Given the description of an element on the screen output the (x, y) to click on. 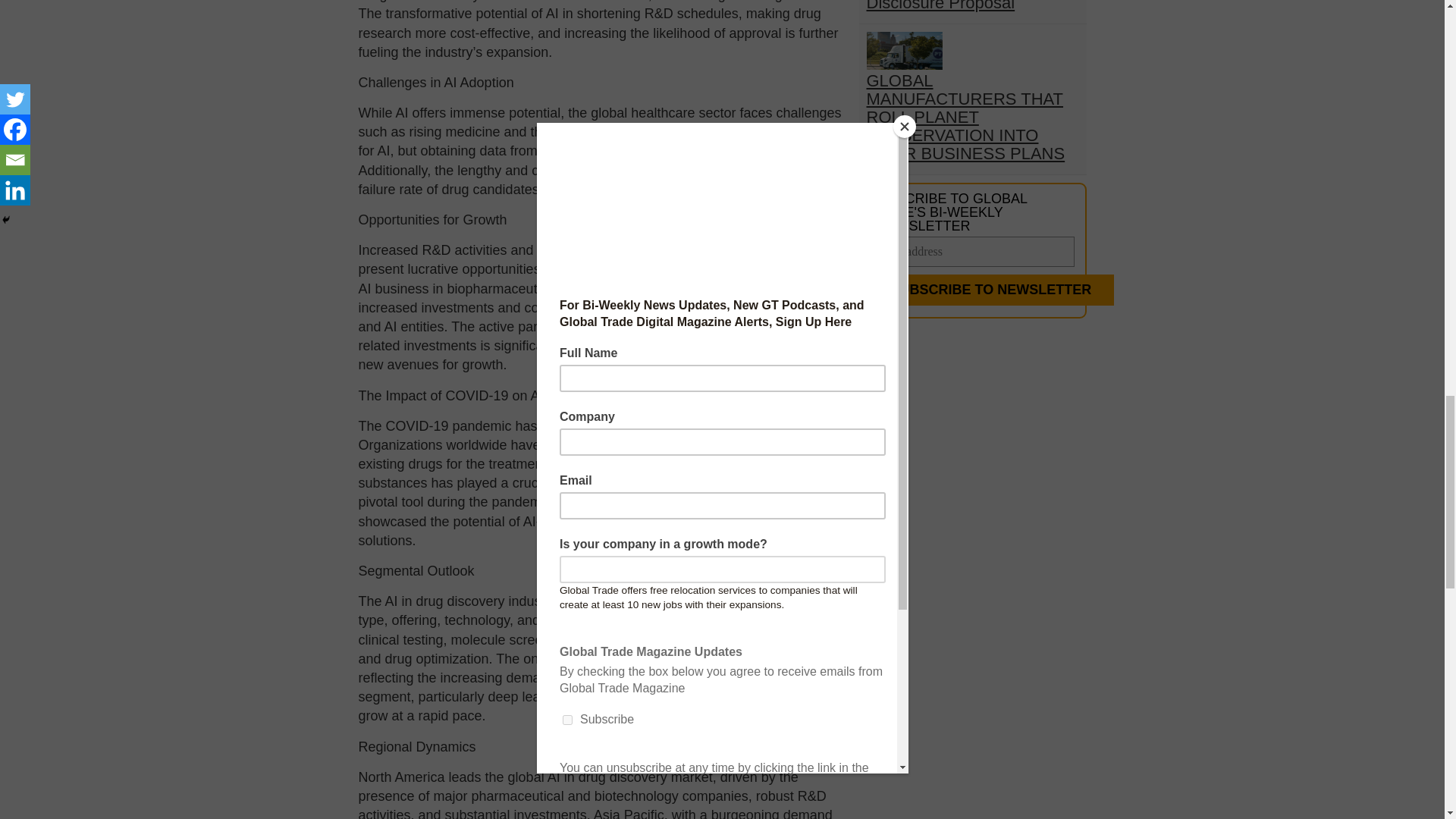
Subscribe to Newsletter (990, 289)
